Given the description of an element on the screen output the (x, y) to click on. 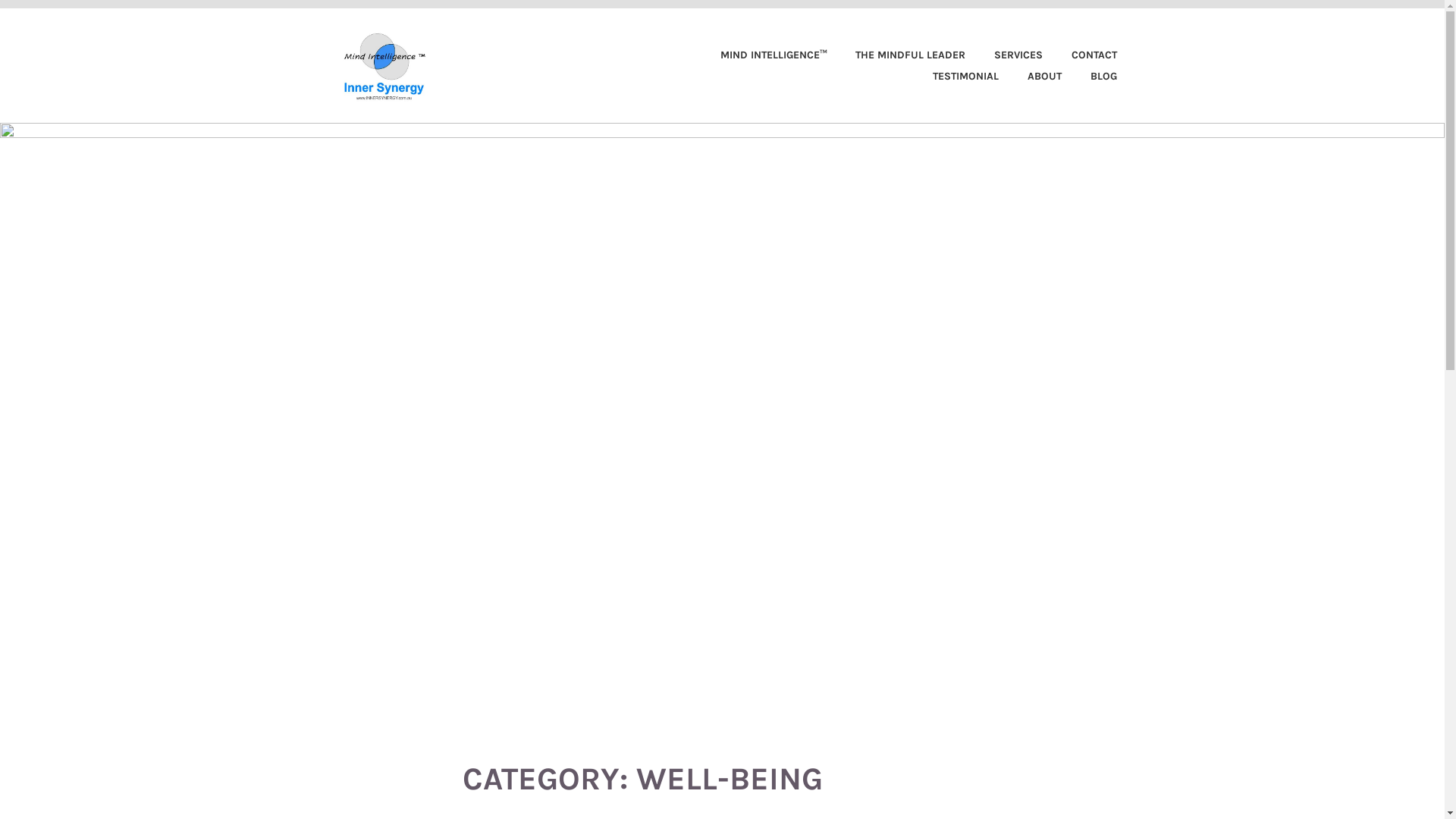
TESTIMONIAL Element type: text (953, 76)
INNER SYNERGY COMMUNITY Element type: text (669, 43)
CONTACT Element type: text (1081, 54)
BLOG Element type: text (1090, 76)
ABOUT Element type: text (1031, 76)
SERVICES Element type: text (1005, 54)
THE MINDFUL LEADER Element type: text (898, 54)
